Given the description of an element on the screen output the (x, y) to click on. 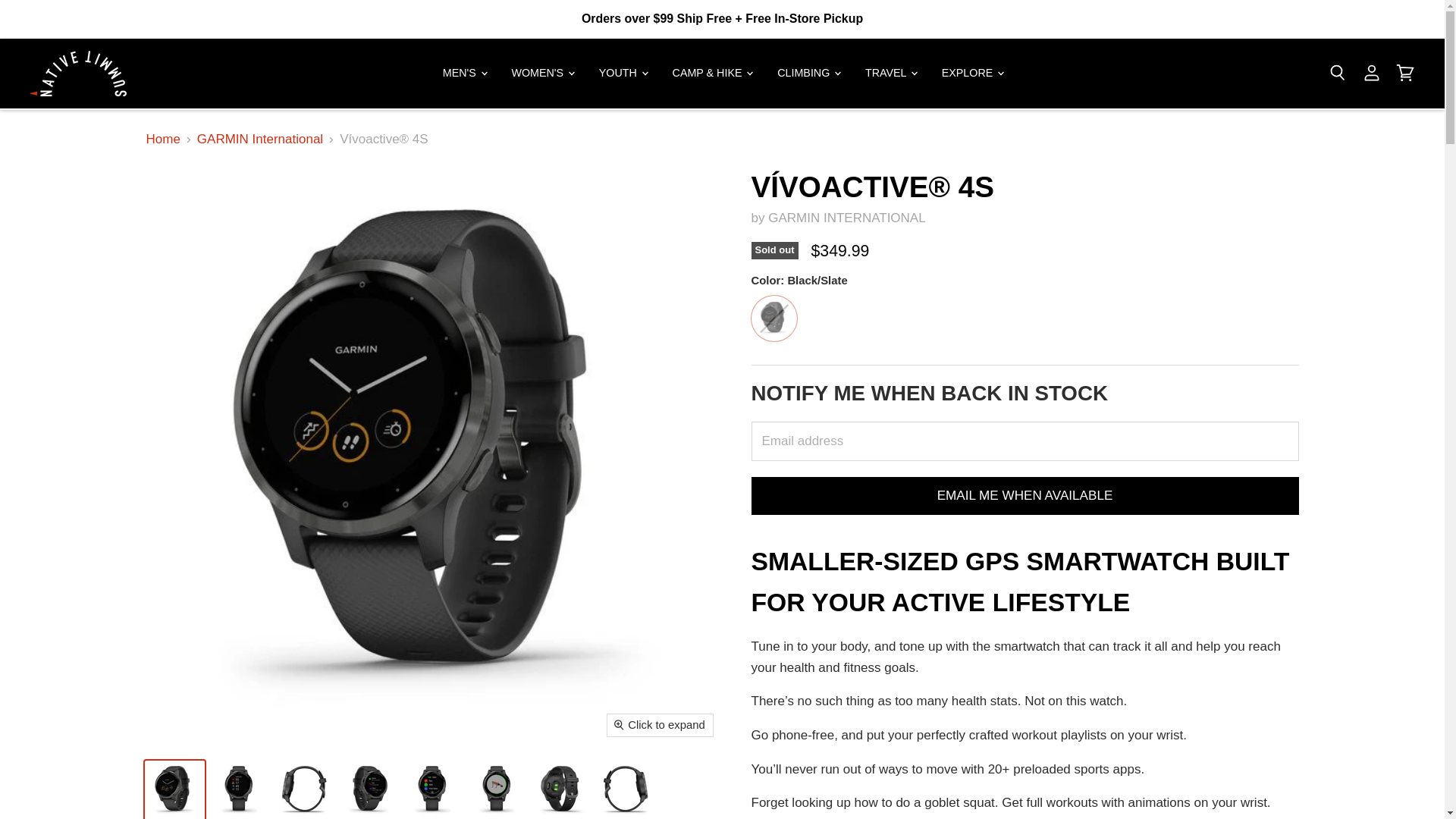
MEN'S (463, 72)
GARMIN INTERNATIONAL (846, 217)
WOMEN'S (541, 72)
